Given the description of an element on the screen output the (x, y) to click on. 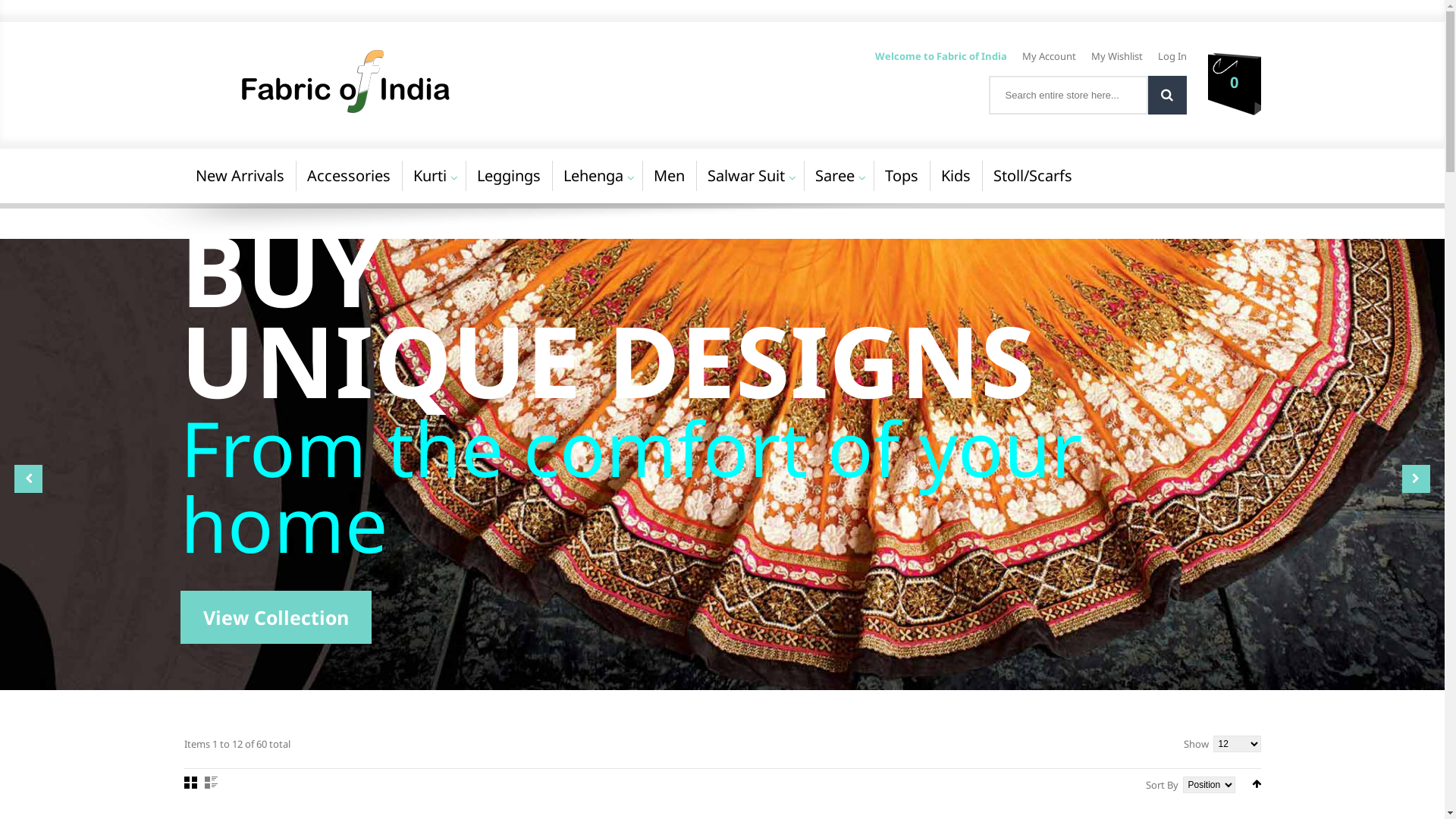
Tops Element type: text (901, 175)
Kurti Element type: text (429, 175)
List Element type: text (210, 782)
Accessories Element type: text (348, 175)
Salwar Suit Element type: text (746, 175)
Leggings Element type: text (508, 175)
My Account Element type: text (1049, 55)
Lehenga Element type: text (593, 175)
Kids Element type: text (955, 175)
Log In Element type: text (1171, 55)
Fabric Of India Element type: hover (429, 79)
My Wishlist Element type: text (1116, 55)
View Collection Element type: text (275, 616)
Set Descending Direction Element type: hover (1255, 783)
Saree Element type: text (834, 175)
Search Element type: hover (1167, 94)
Men Element type: text (668, 175)
New Arrivals Element type: text (238, 175)
Stoll/Scarfs Element type: text (1031, 175)
